Given the description of an element on the screen output the (x, y) to click on. 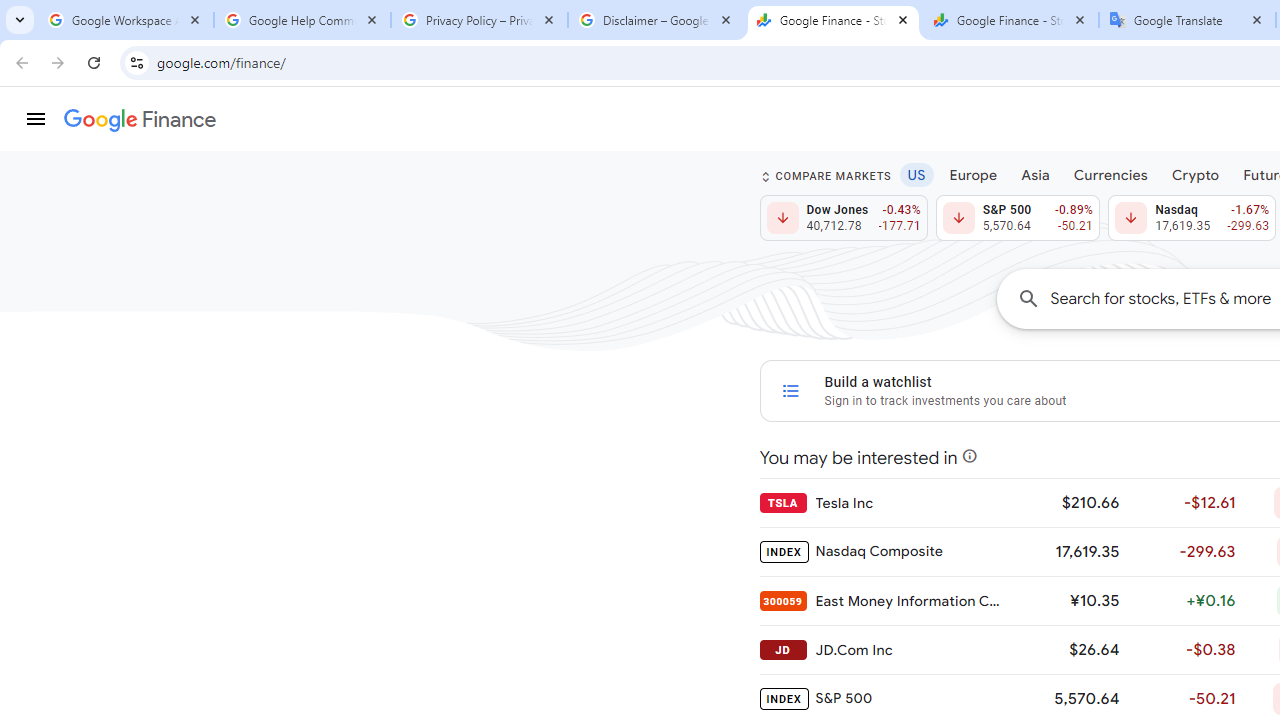
Folders (984, 224)
Info (104, 559)
Add a Place (507, 501)
This PC (507, 414)
Save As (104, 668)
Get Add-ins (104, 504)
New (104, 208)
Recent (507, 184)
